Given the description of an element on the screen output the (x, y) to click on. 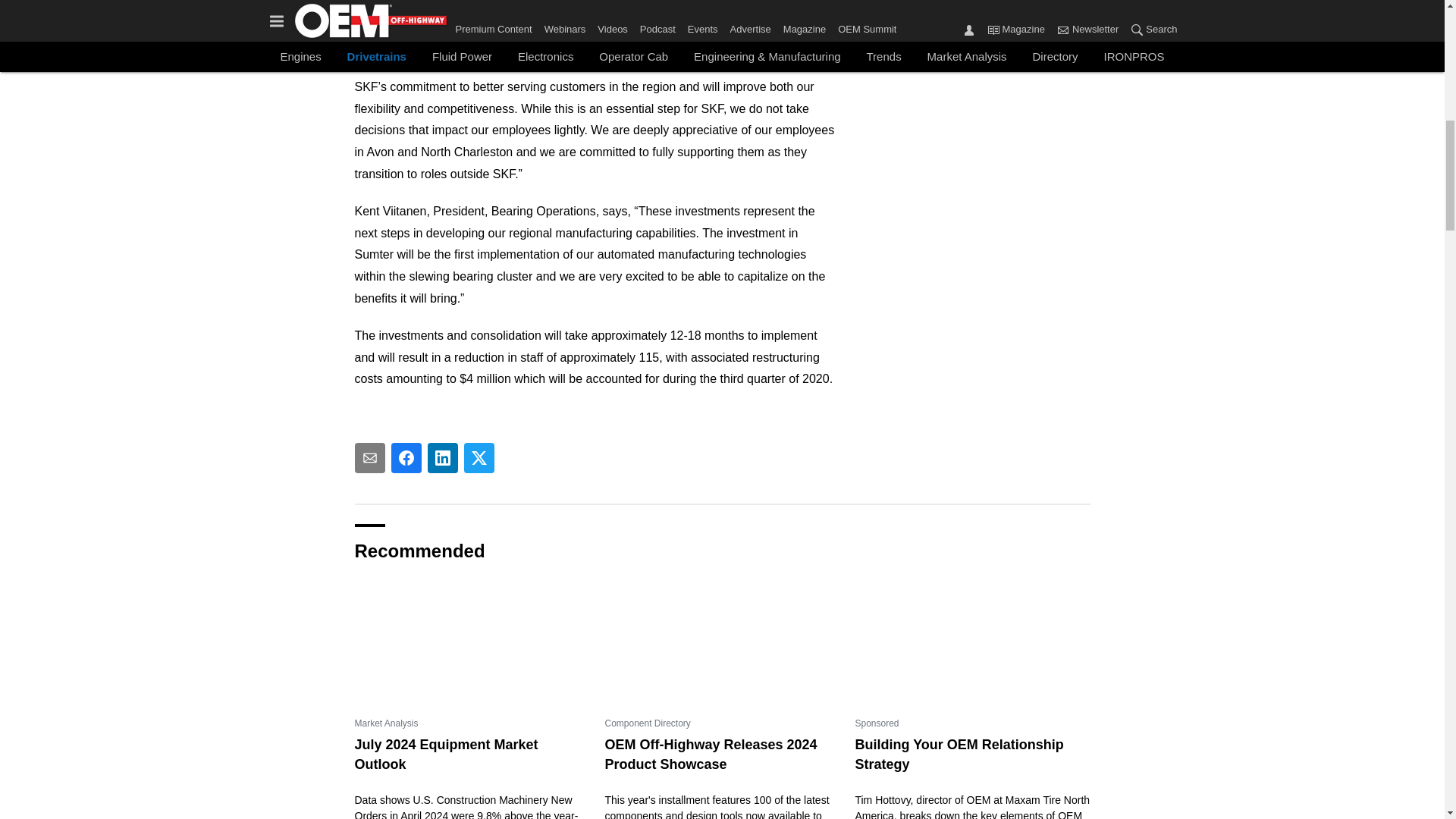
Share To facebook (406, 458)
Share To linkedin (443, 458)
Share To email (370, 458)
Share To twitter (479, 458)
